Given the description of an element on the screen output the (x, y) to click on. 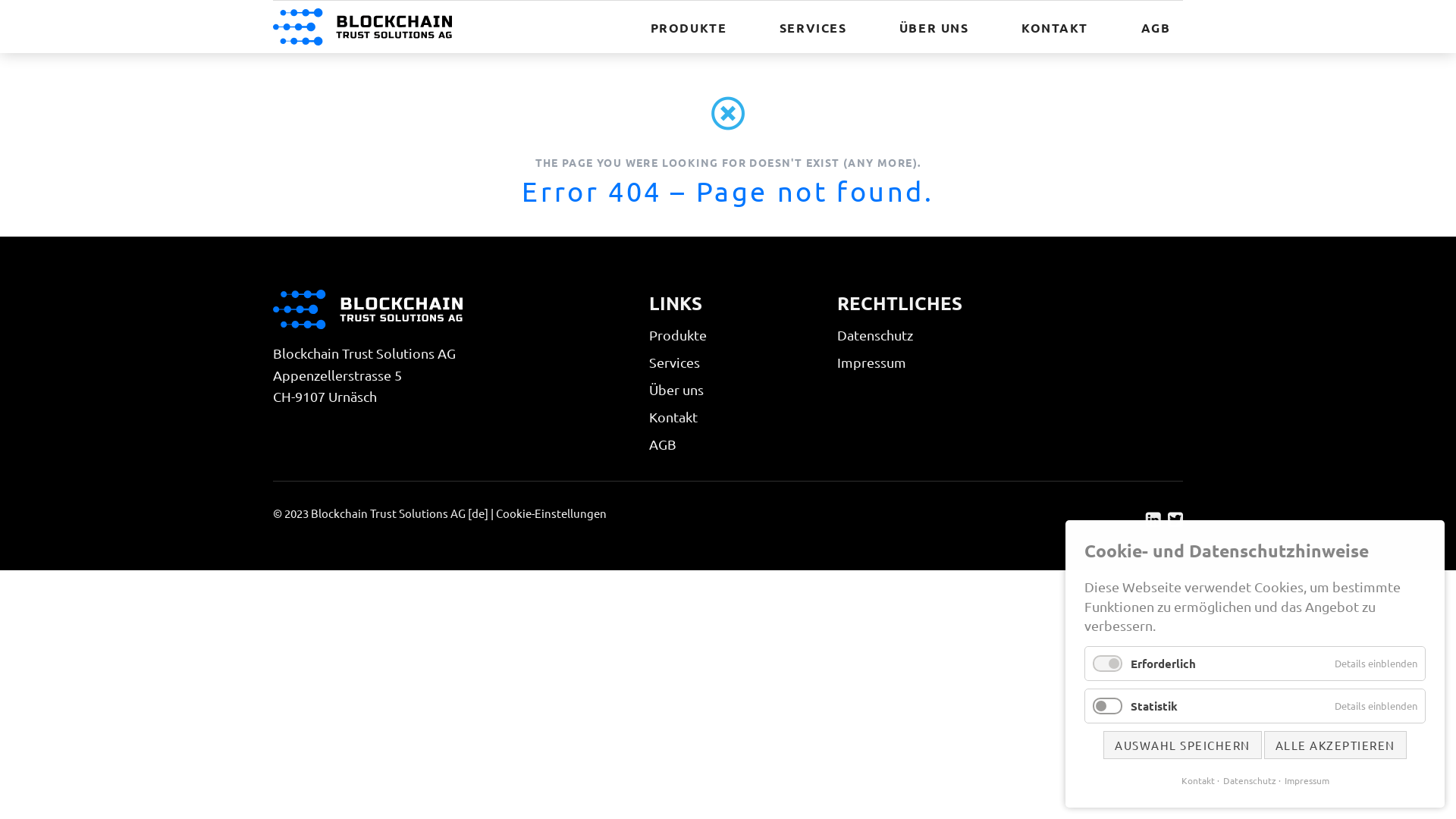
AGB Element type: text (662, 443)
Impressum Element type: text (1303, 780)
Kontakt Element type: text (1197, 780)
AGB Element type: text (1155, 26)
KONTAKT Element type: text (1054, 26)
Details einblenden Element type: text (1375, 663)
ALLE AKZEPTIEREN Element type: text (1335, 745)
Details einblenden Element type: text (1375, 705)
AUSWAHL SPEICHERN Element type: text (1182, 745)
PRODUKTE Element type: text (688, 26)
Datenschutz Element type: text (875, 334)
Kontakt Element type: text (673, 416)
Cookie-Einstellungen Element type: text (550, 512)
Impressum Element type: text (871, 362)
Datenschutz Element type: text (1245, 780)
SERVICES Element type: text (812, 26)
Services Element type: text (674, 362)
Produkte Element type: text (677, 334)
